Given the description of an element on the screen output the (x, y) to click on. 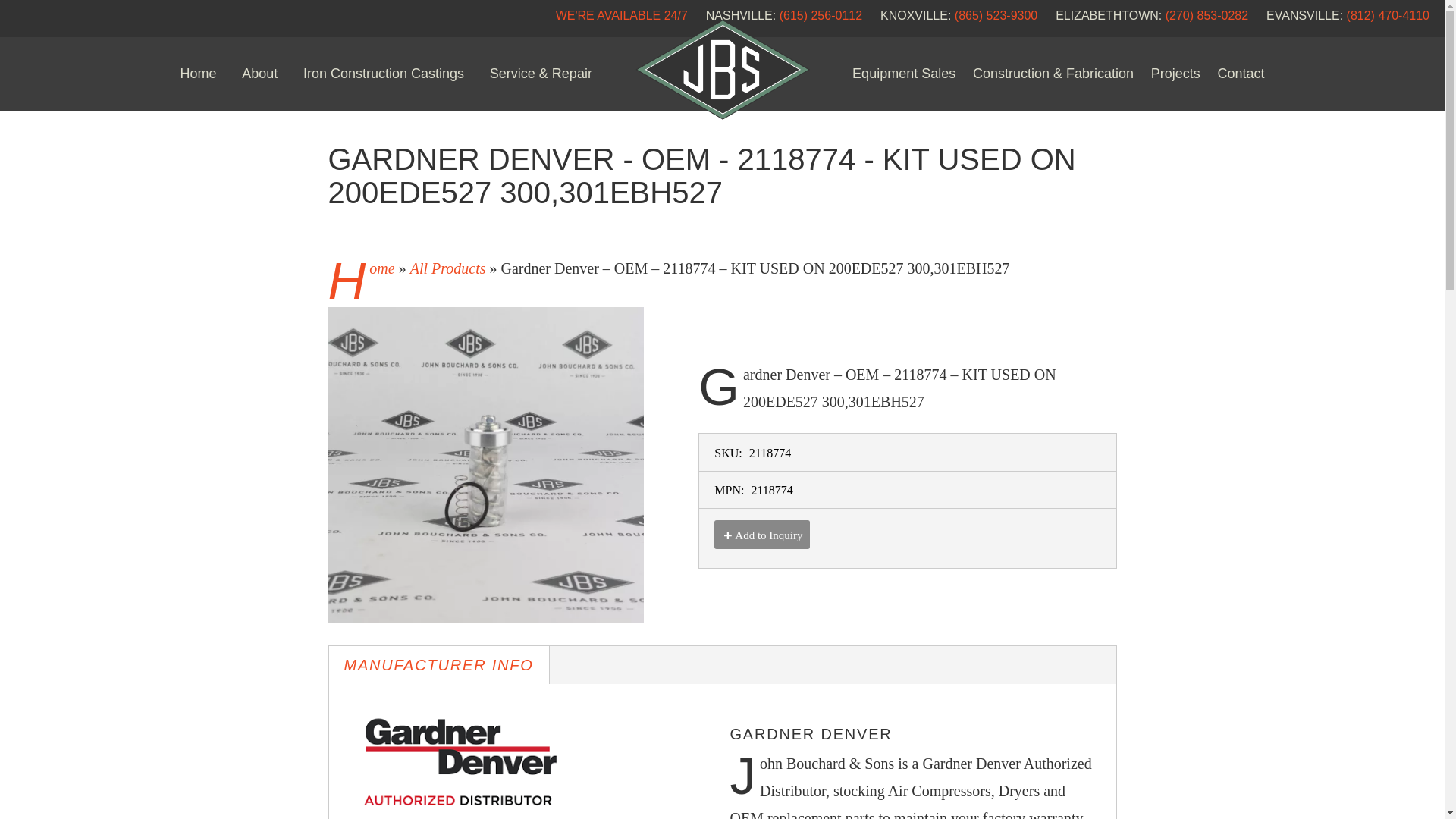
About (259, 73)
Contact (1240, 73)
Projects (1175, 73)
Iron Construction Castings (383, 73)
Equipment Sales (903, 73)
Home (198, 73)
